Given the description of an element on the screen output the (x, y) to click on. 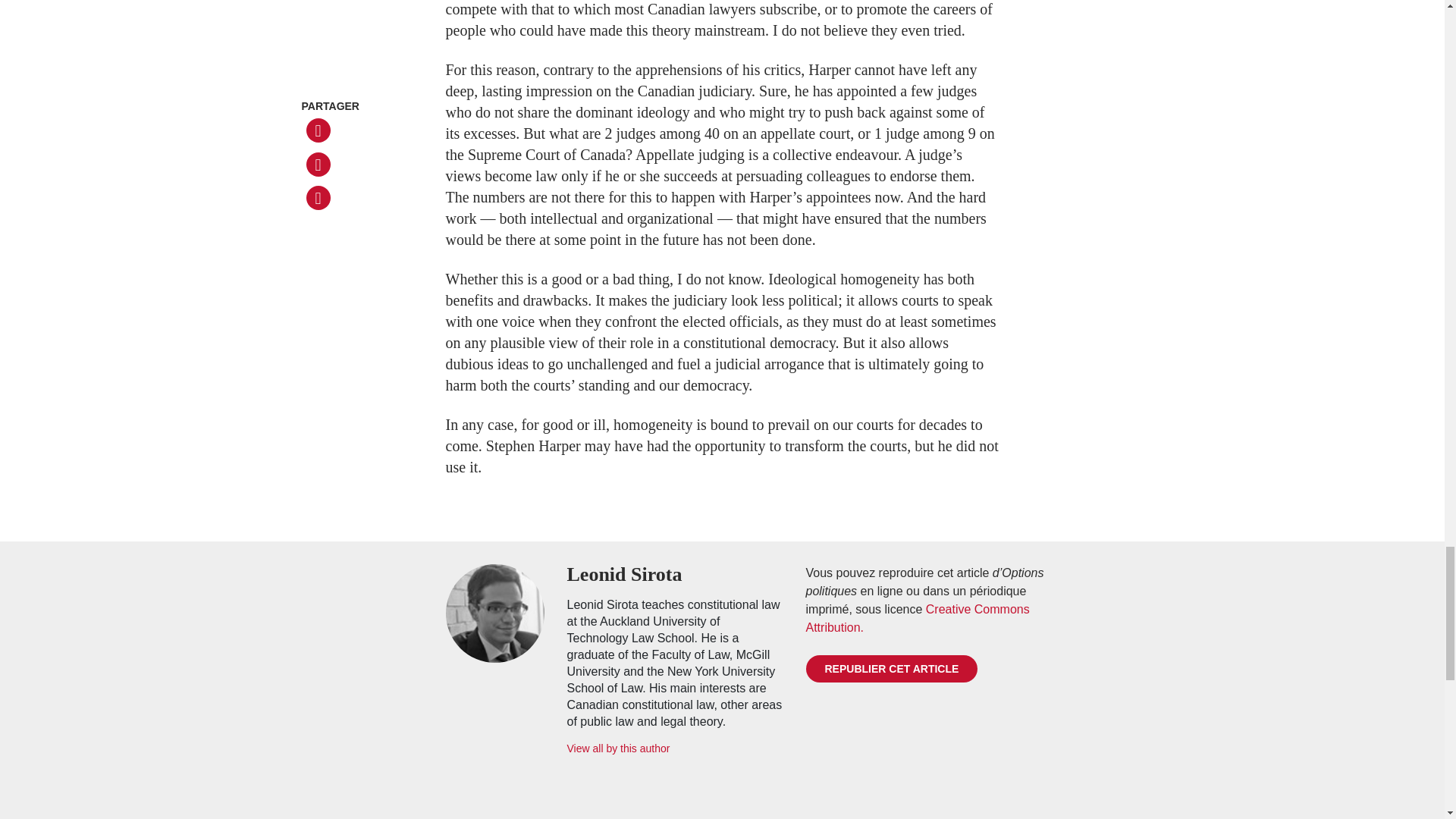
Leonid Sirota (675, 574)
View all by this author (675, 748)
Creative Commons Attribution. (917, 617)
REPUBLIER CET ARTICLE (890, 668)
